Given the description of an element on the screen output the (x, y) to click on. 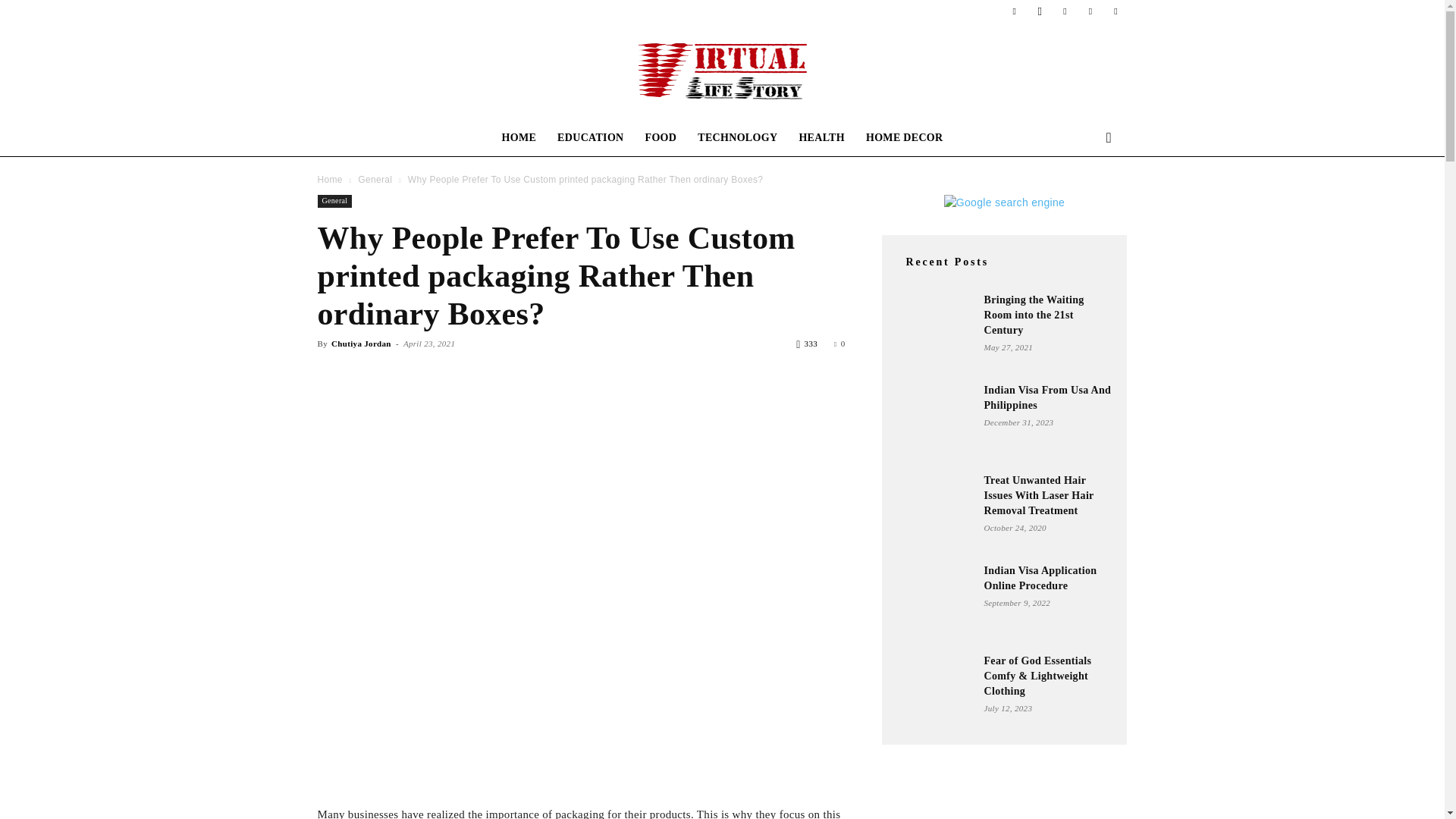
0 (839, 343)
TECHNOLOGY (737, 137)
General (374, 179)
View all posts in General (374, 179)
Instagram (1039, 10)
HEALTH (821, 137)
Youtube (1114, 10)
Search (1085, 198)
Facebook (1014, 10)
General (334, 201)
HOME (518, 137)
Home (329, 179)
HOME DECOR (904, 137)
FOOD (660, 137)
EDUCATION (590, 137)
